Given the description of an element on the screen output the (x, y) to click on. 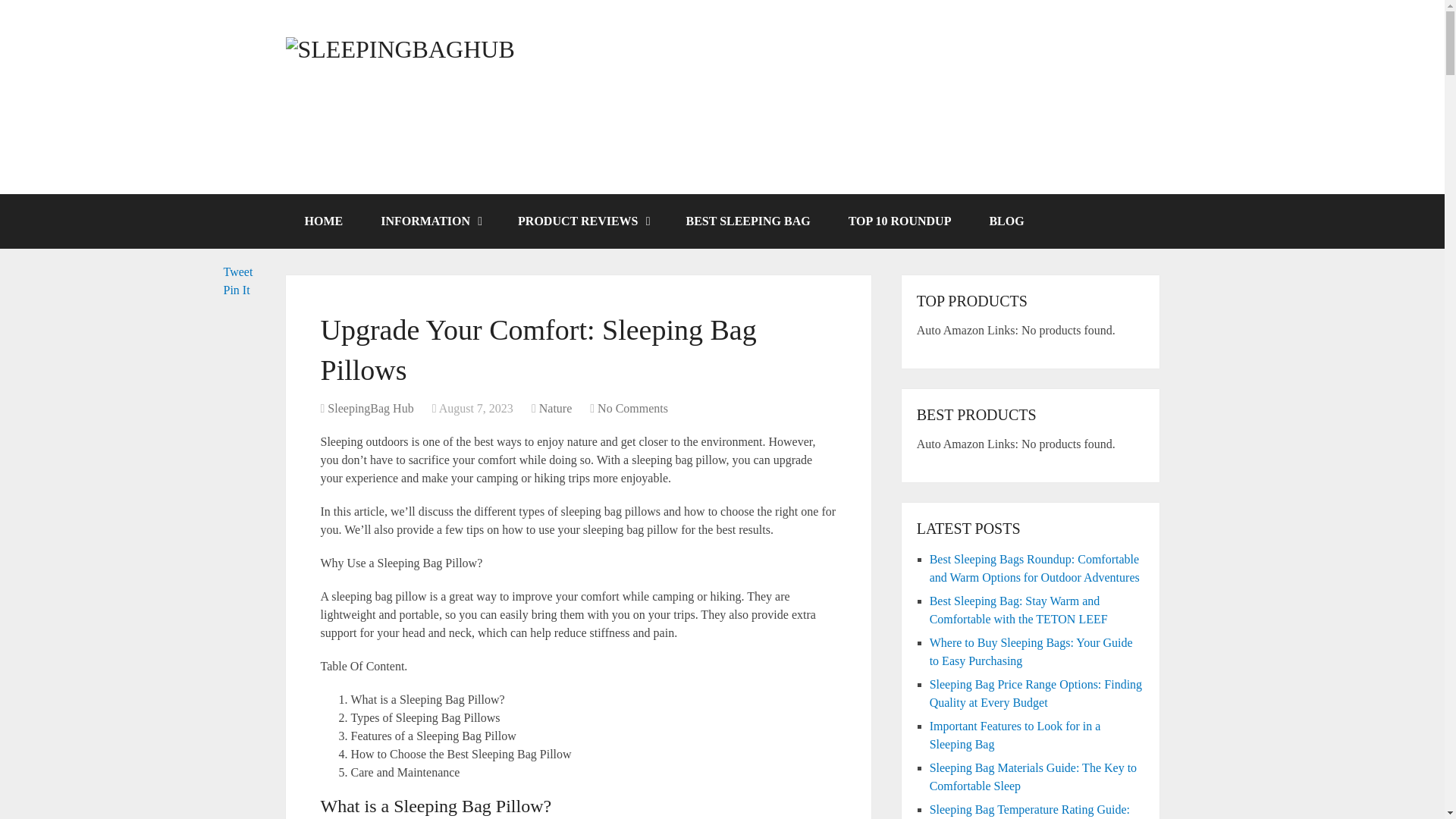
HOME (323, 221)
SleepingBag Hub (370, 408)
View all posts in Nature (555, 408)
No Comments (632, 408)
INFORMATION (430, 221)
PRODUCT REVIEWS (582, 221)
BLOG (1005, 221)
Nature (555, 408)
BEST SLEEPING BAG (747, 221)
TOP 10 ROUNDUP (900, 221)
Posts by SleepingBag Hub (370, 408)
